Given the description of an element on the screen output the (x, y) to click on. 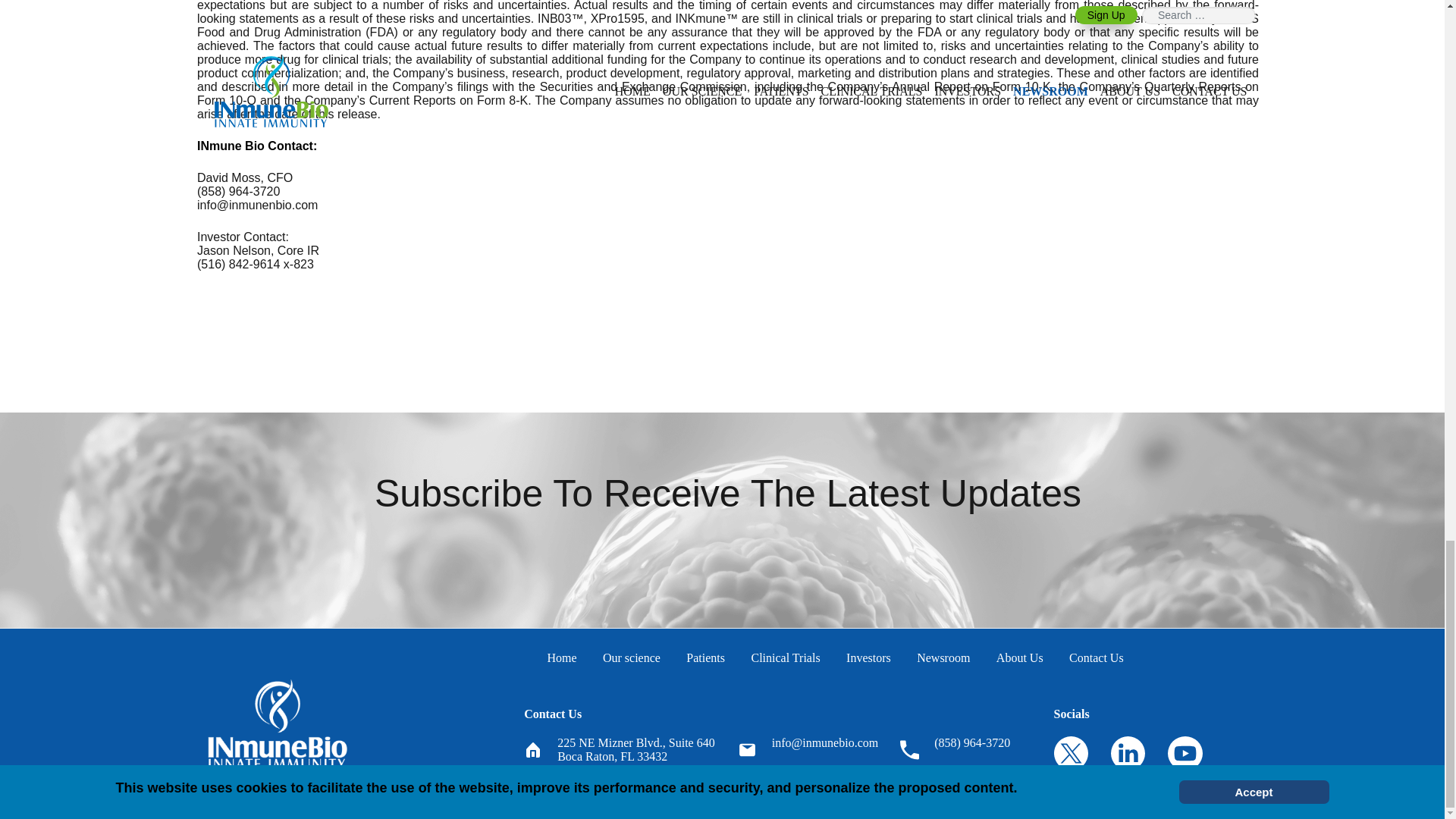
Gantry 5 (278, 723)
